Given the description of an element on the screen output the (x, y) to click on. 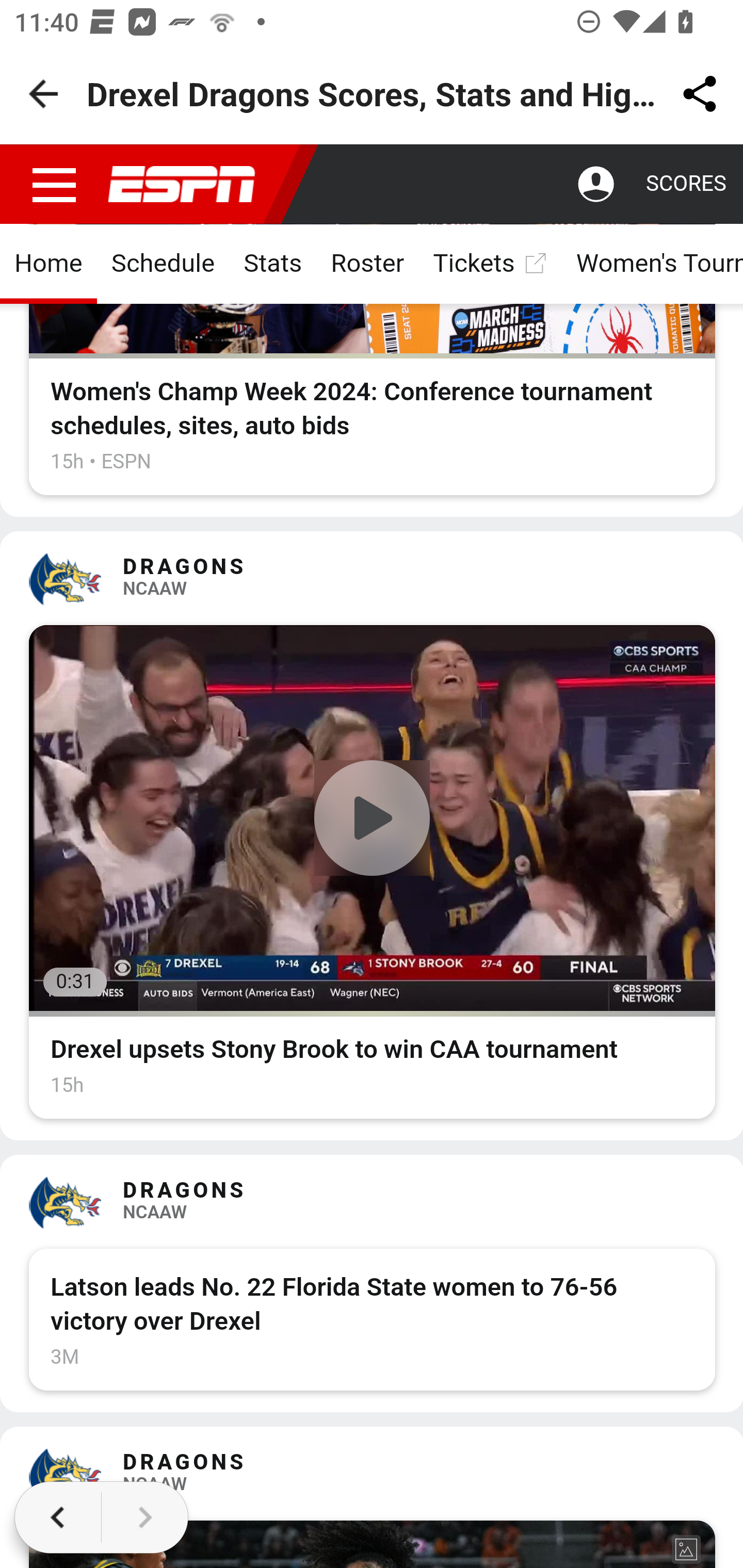
Menu (54, 185)
ESPN Home Page (182, 185)
Profile Management (596, 185)
SCORES (685, 185)
Home (48, 266)
Schedule (163, 266)
Stats (272, 266)
Roster (367, 266)
Tickets External Link Tickets External Link (489, 266)
Women's Tournament Challenge (651, 266)
0:31 (372, 819)
